Given the description of an element on the screen output the (x, y) to click on. 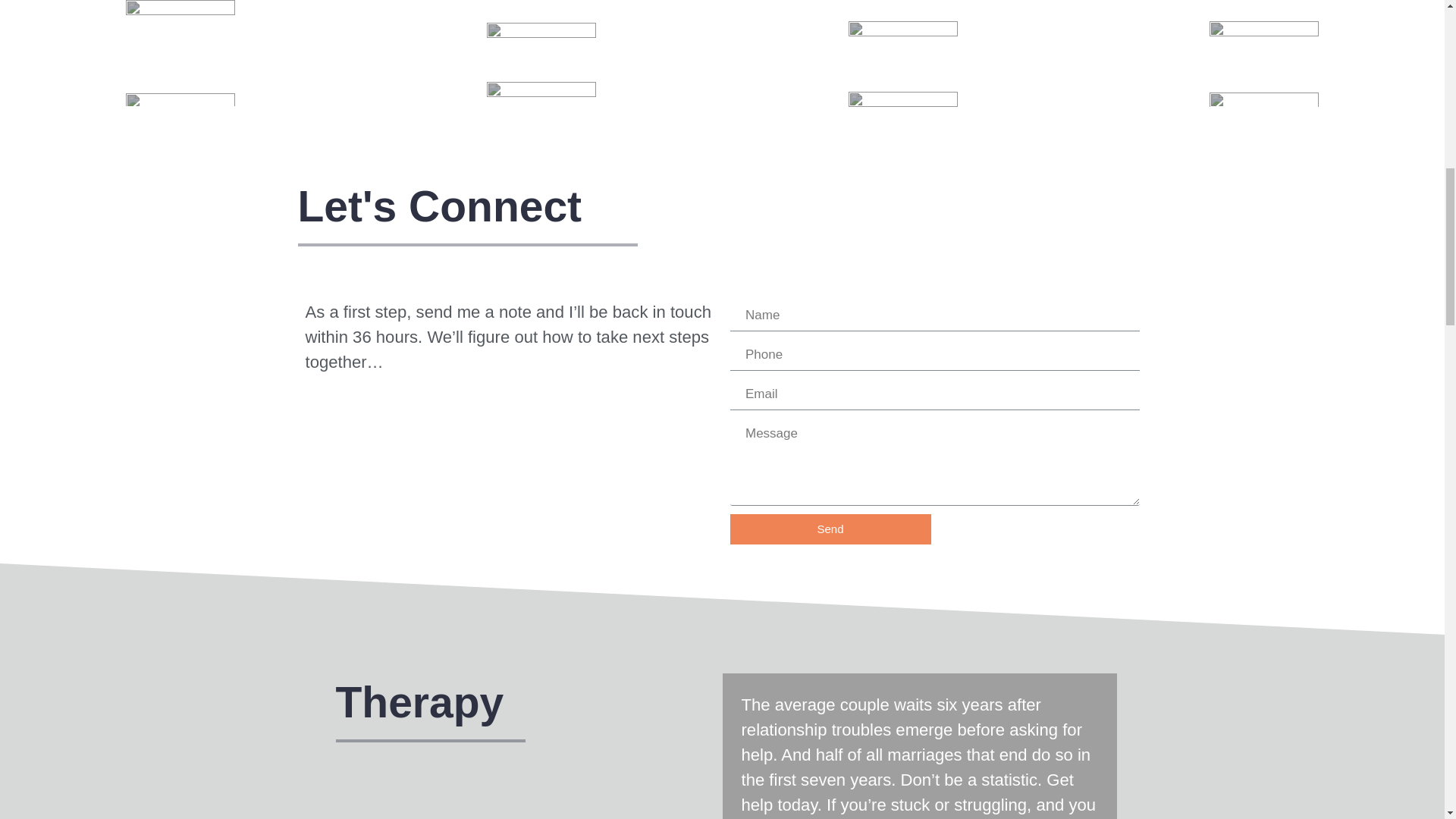
Send (829, 529)
